Given the description of an element on the screen output the (x, y) to click on. 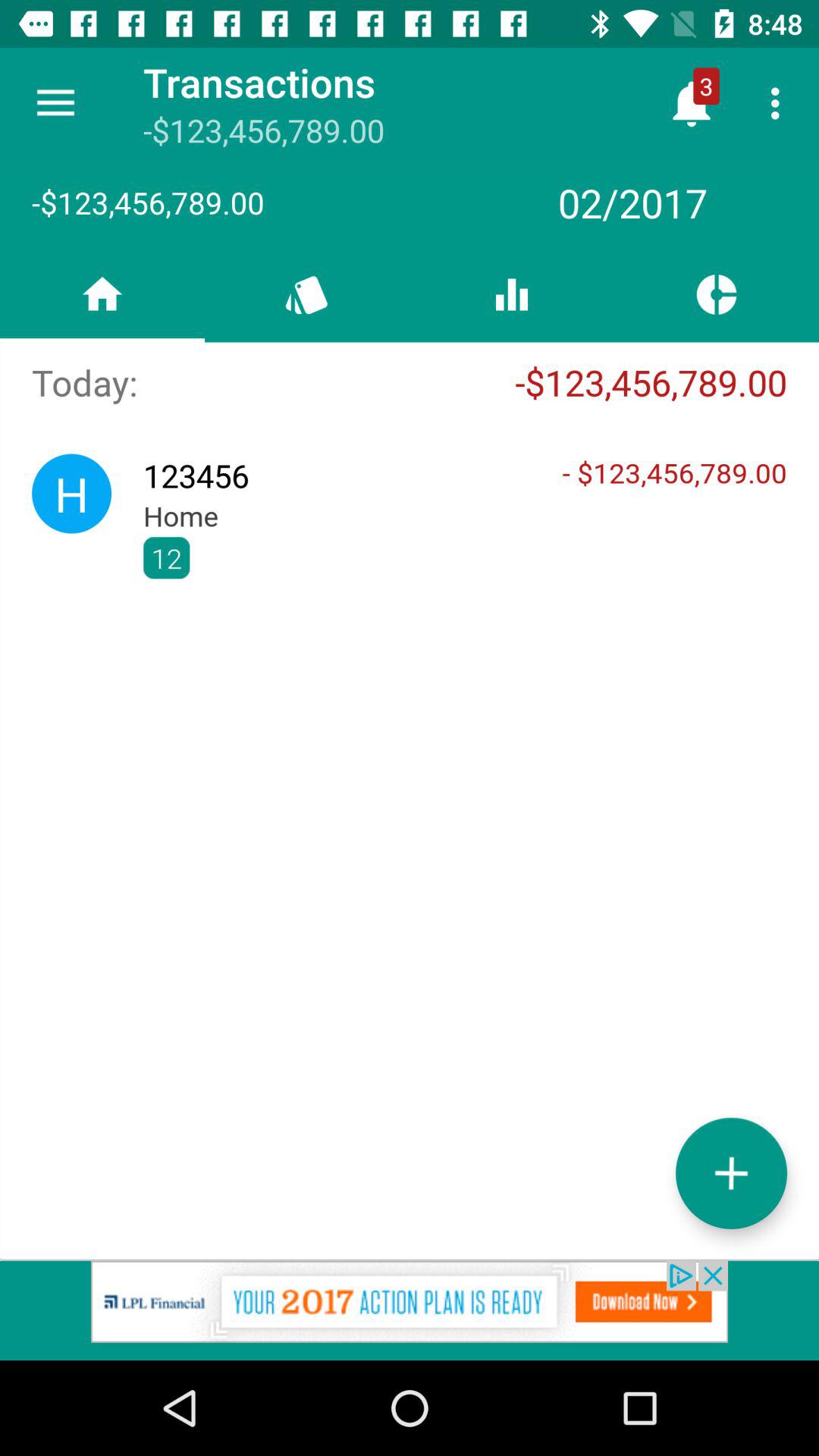
turn off icon above the   item (779, 103)
